Given the description of an element on the screen output the (x, y) to click on. 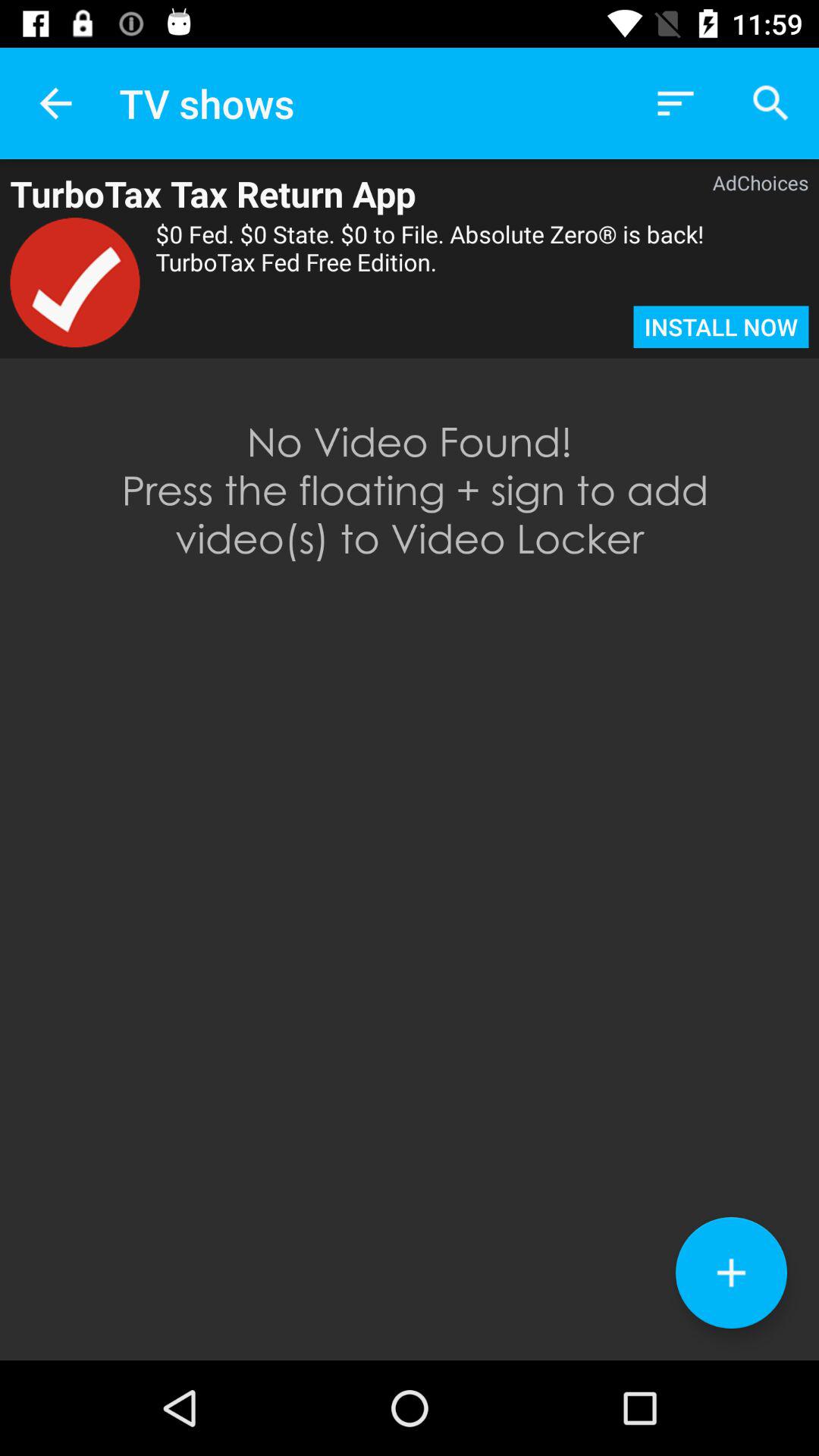
tap app above the adchoices (675, 103)
